Given the description of an element on the screen output the (x, y) to click on. 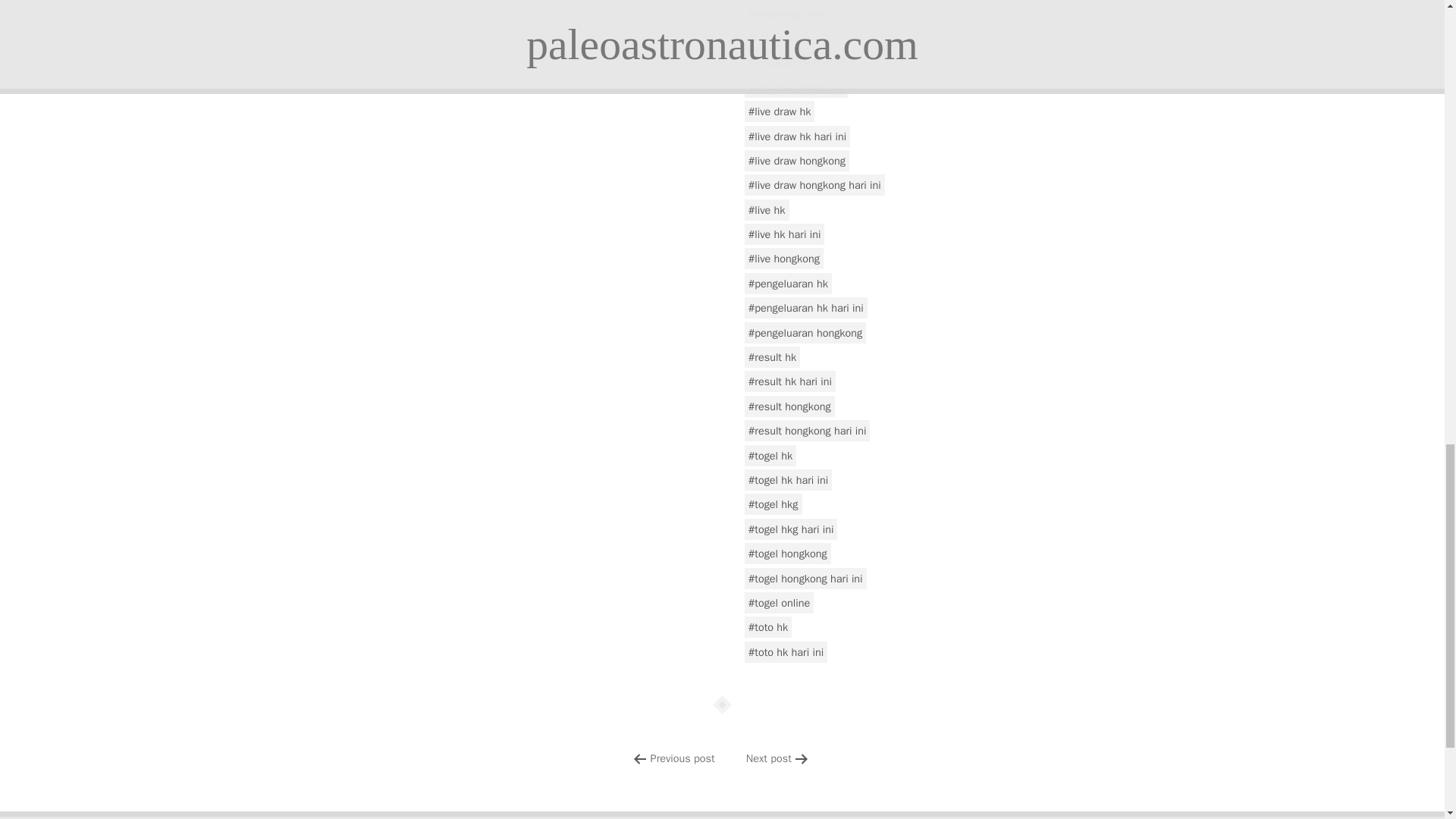
keluaran hk hari ini (797, 61)
togel hk (770, 455)
pengeluaran hk hari ini (805, 307)
hongkong pools (789, 13)
togel hongkong (787, 553)
togel hongkong hari ini (805, 578)
keluaran hk (778, 37)
toto hk hari ini (785, 651)
Previous post (682, 757)
result hk hari ini (789, 381)
pengeluaran hk (787, 283)
result hongkong hari ini (807, 430)
live draw hongkong (796, 160)
live hongkong (784, 258)
result hongkong (789, 405)
